Given the description of an element on the screen output the (x, y) to click on. 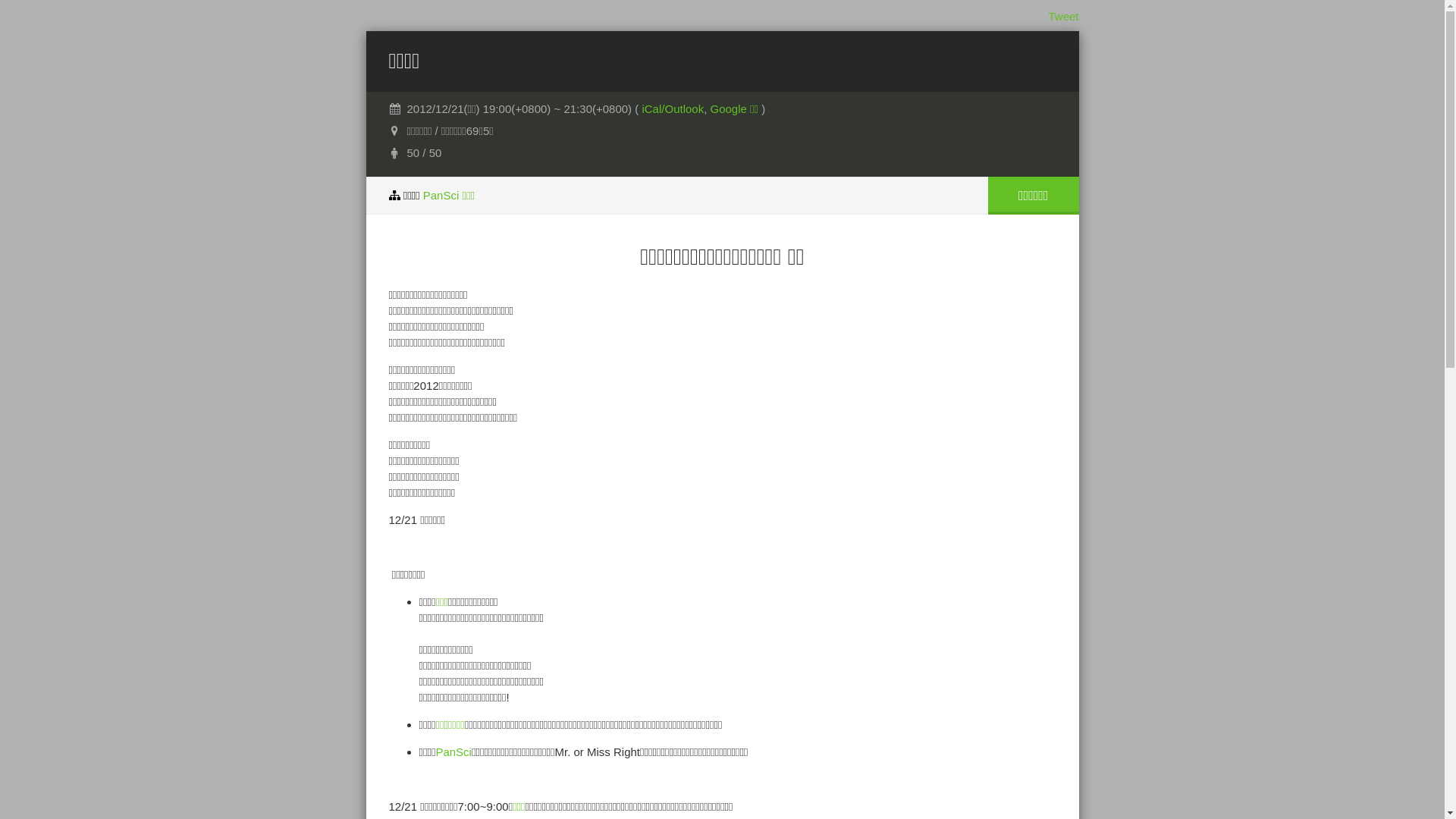
Tweet Element type: text (1063, 15)
PanSci Element type: text (453, 751)
iCal/Outlook Element type: text (672, 108)
